Given the description of an element on the screen output the (x, y) to click on. 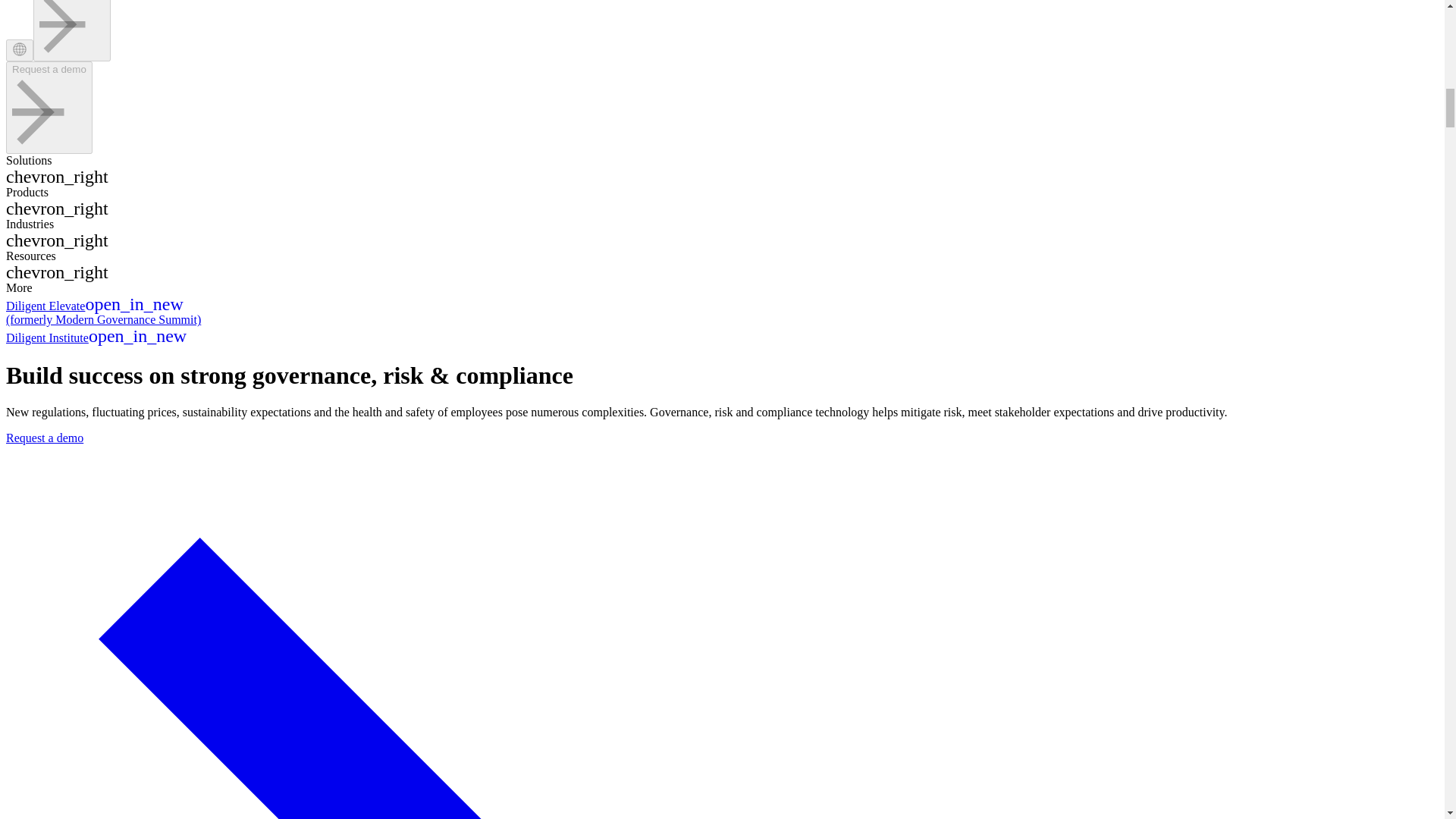
loginLog In (71, 30)
Request a demo (49, 107)
